Given the description of an element on the screen output the (x, y) to click on. 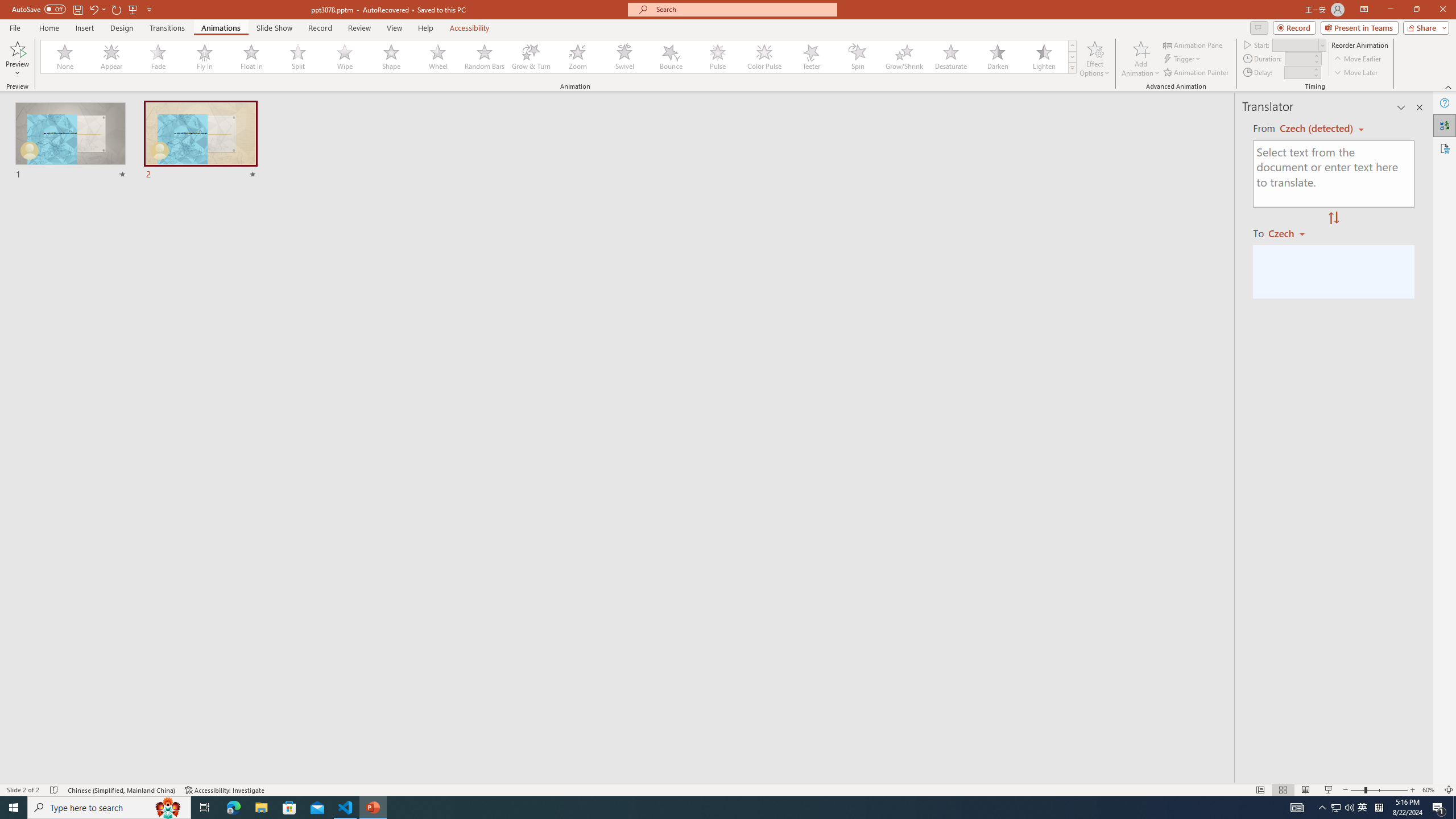
Class: MsoCommandBar (728, 789)
Less (1315, 75)
Color Pulse (764, 56)
Lighten (1043, 56)
Class: NetUIImage (1072, 68)
